Given the description of an element on the screen output the (x, y) to click on. 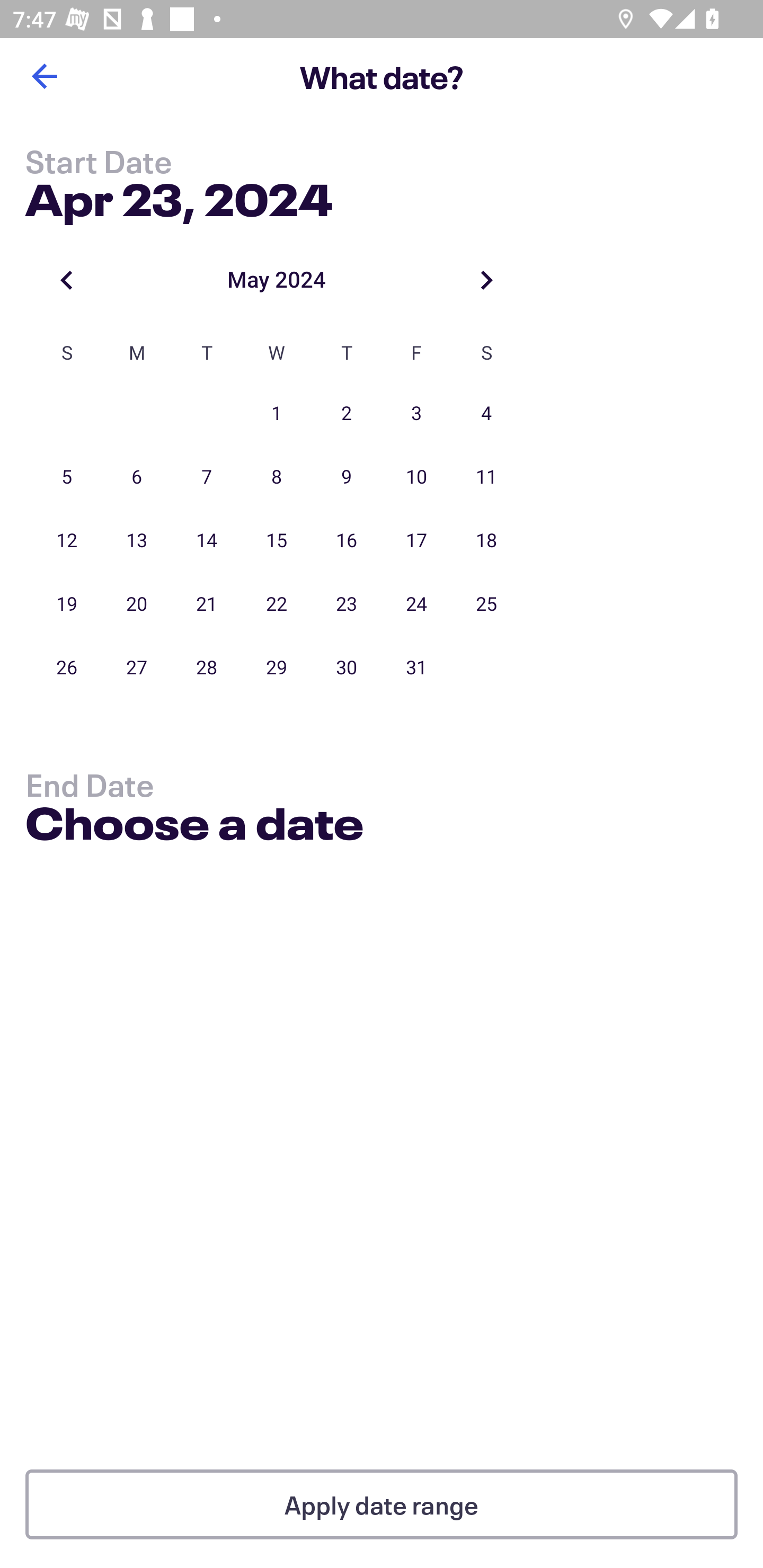
Back button (44, 75)
Apr 23, 2024 (178, 195)
Previous month (66, 279)
Next month (486, 279)
1 01 May 2024 (276, 413)
2 02 May 2024 (346, 413)
3 03 May 2024 (416, 413)
4 04 May 2024 (486, 413)
5 05 May 2024 (66, 477)
6 06 May 2024 (136, 477)
7 07 May 2024 (206, 477)
8 08 May 2024 (276, 477)
9 09 May 2024 (346, 477)
10 10 May 2024 (416, 477)
11 11 May 2024 (486, 477)
12 12 May 2024 (66, 540)
13 13 May 2024 (136, 540)
14 14 May 2024 (206, 540)
15 15 May 2024 (276, 540)
16 16 May 2024 (346, 540)
17 17 May 2024 (416, 540)
18 18 May 2024 (486, 540)
19 19 May 2024 (66, 604)
20 20 May 2024 (136, 604)
21 21 May 2024 (206, 604)
22 22 May 2024 (276, 604)
23 23 May 2024 (346, 604)
24 24 May 2024 (416, 604)
25 25 May 2024 (486, 604)
26 26 May 2024 (66, 667)
27 27 May 2024 (136, 667)
28 28 May 2024 (206, 667)
29 29 May 2024 (276, 667)
30 30 May 2024 (346, 667)
31 31 May 2024 (416, 667)
Choose a date (194, 826)
Apply date range (381, 1504)
